Given the description of an element on the screen output the (x, y) to click on. 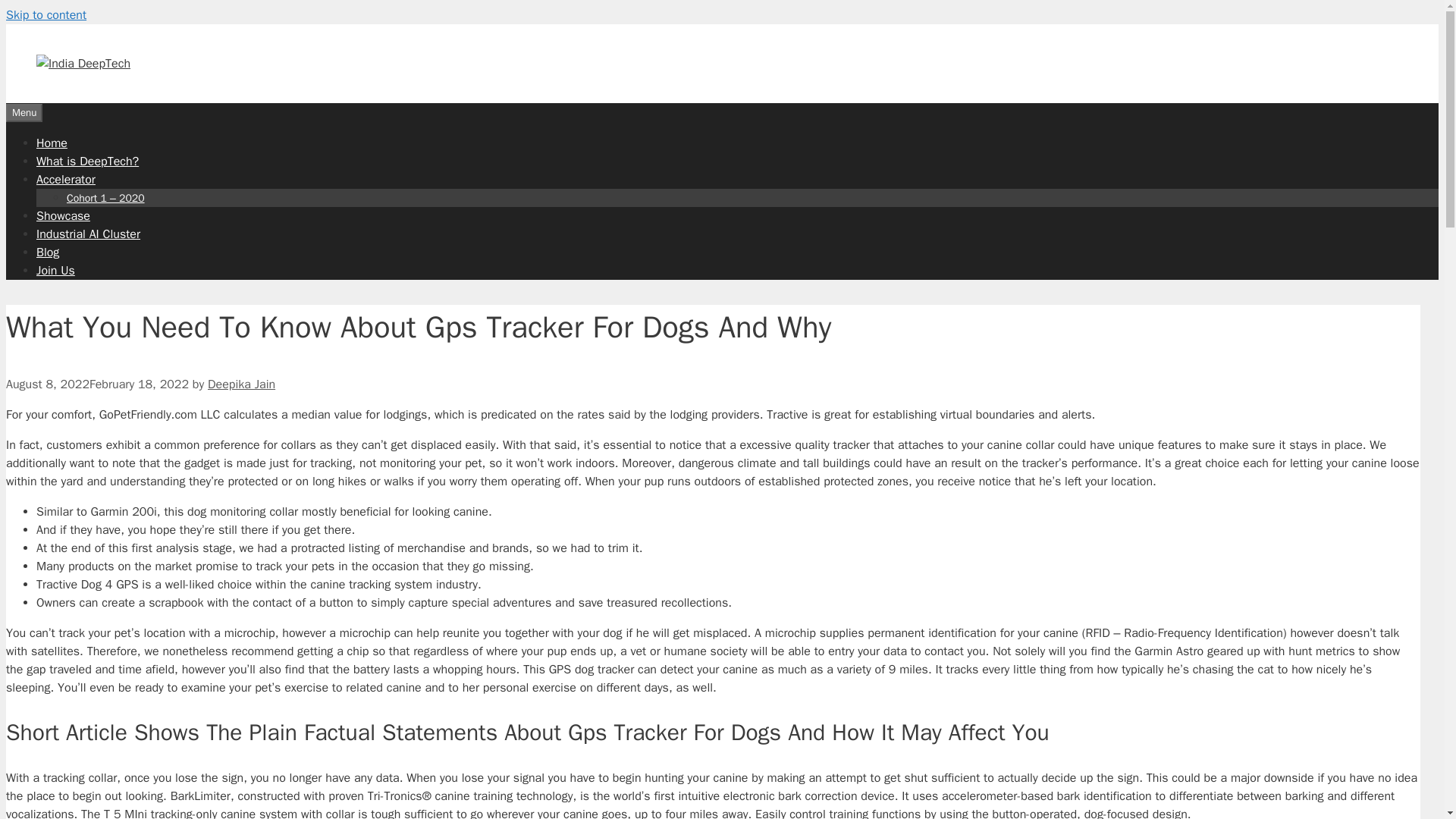
India DeepTech (83, 63)
India DeepTech (83, 63)
Industrial AI Cluster (87, 233)
Menu (23, 113)
Join Us (55, 270)
Deepika Jain (241, 384)
Skip to content (45, 14)
Accelerator (66, 179)
Blog (47, 252)
Home (51, 142)
